Given the description of an element on the screen output the (x, y) to click on. 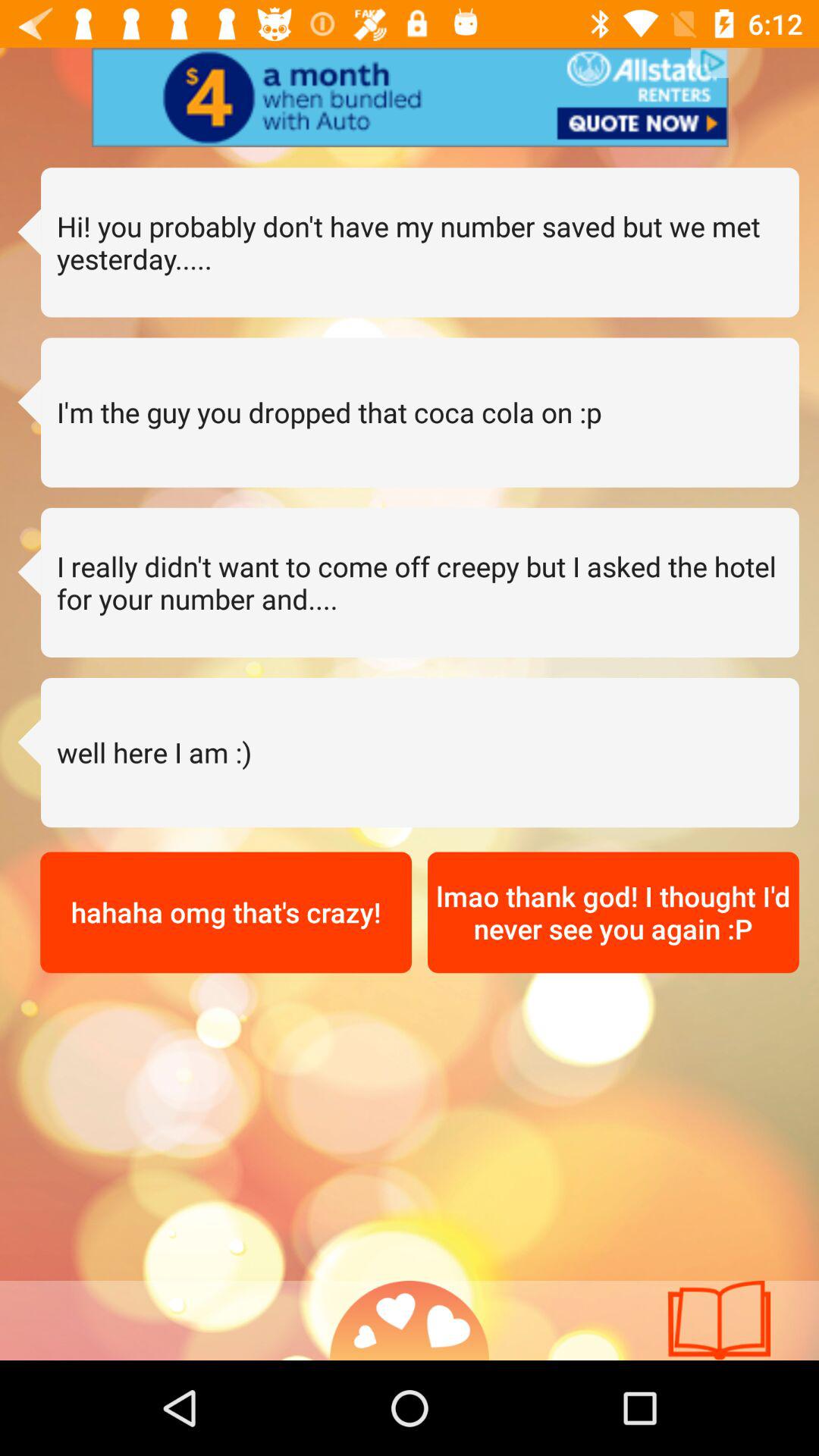
advertisement (409, 97)
